Given the description of an element on the screen output the (x, y) to click on. 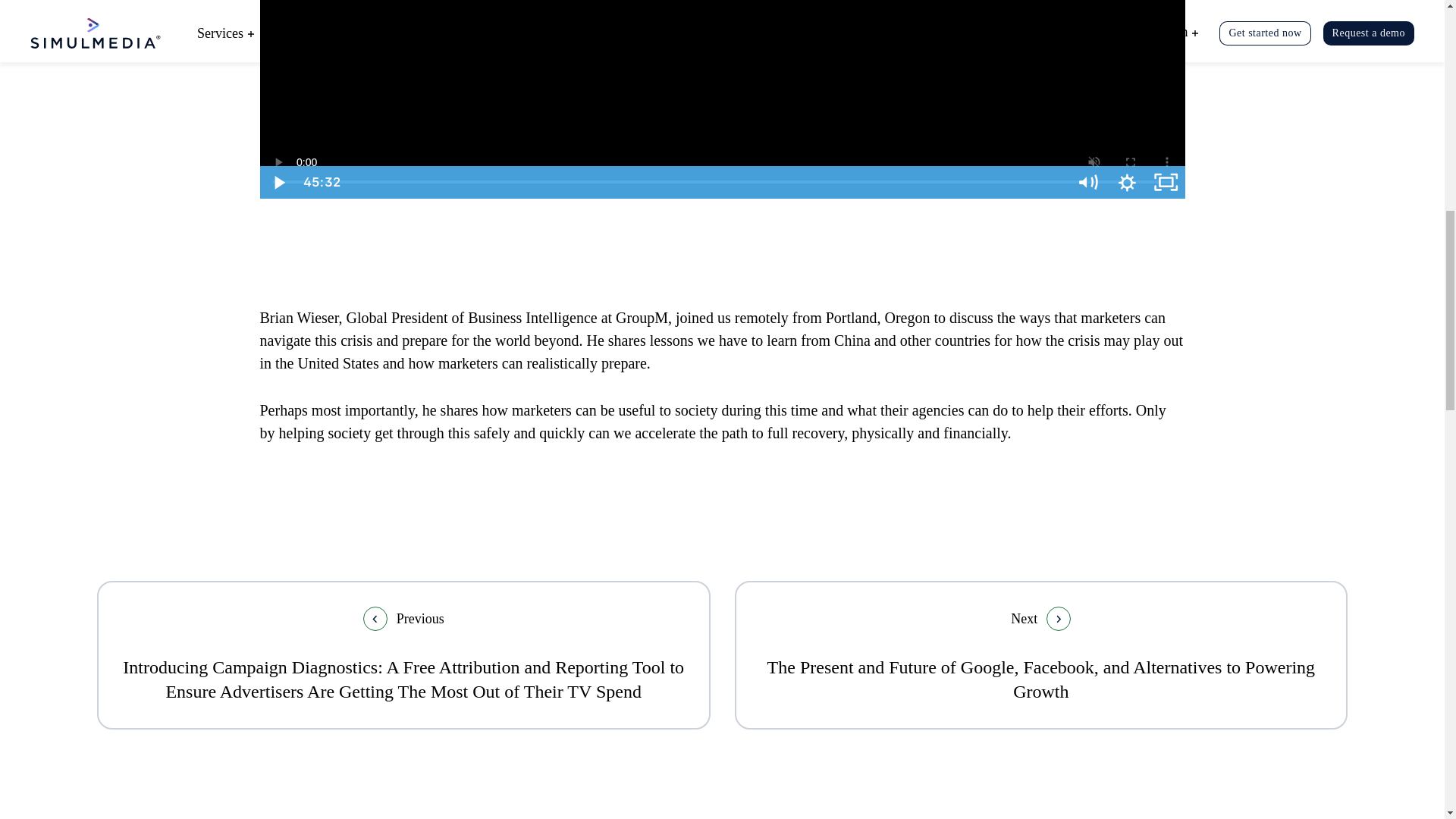
Show settings menu (1127, 182)
